Given the description of an element on the screen output the (x, y) to click on. 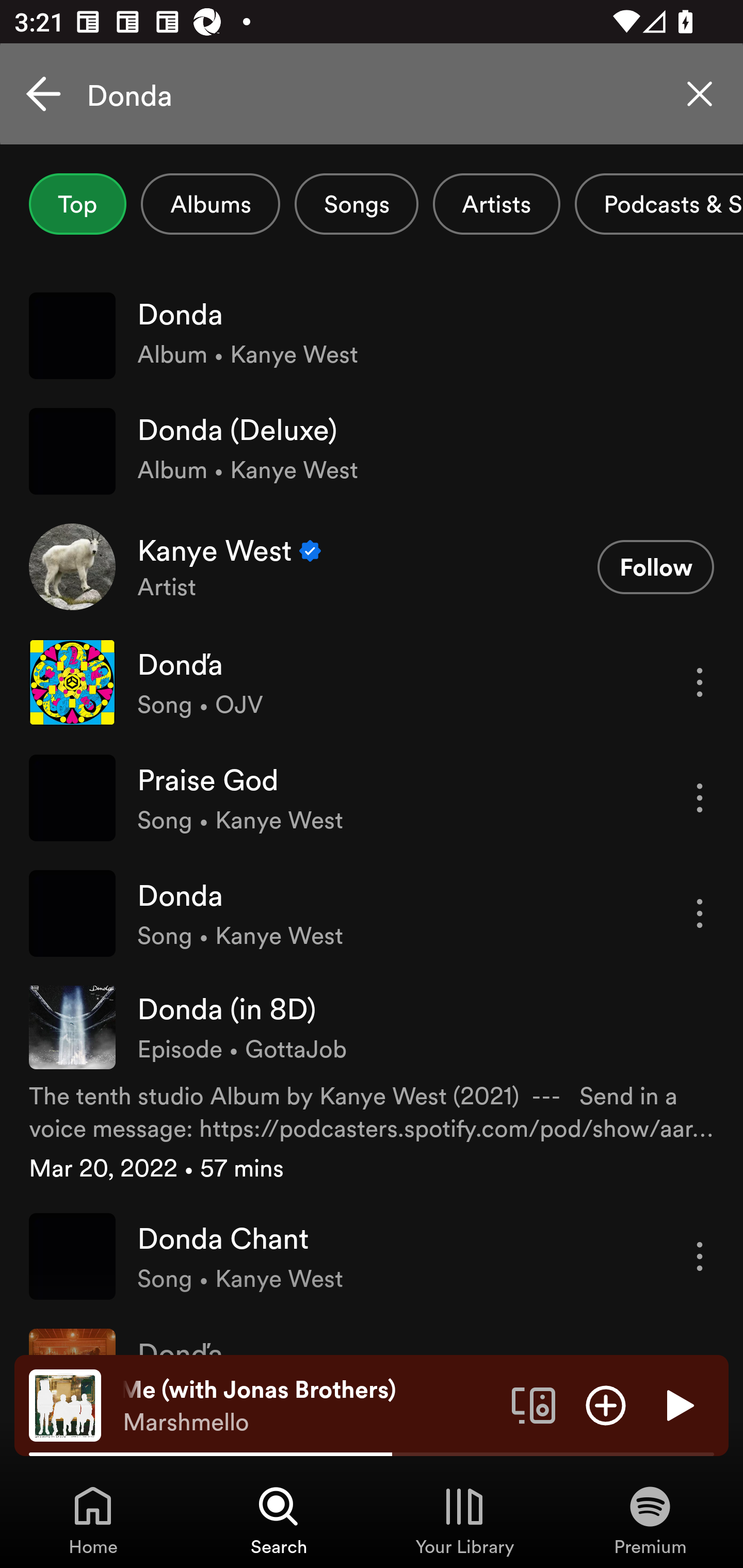
Donda (371, 93)
Cancel (43, 93)
Clear search query (699, 93)
Top (77, 203)
Albums (210, 203)
Songs (356, 203)
Artists (496, 203)
Podcasts & Shows (659, 203)
Donda Album • Kanye West (371, 335)
Donda (Deluxe) Album • Kanye West (371, 451)
Kanye West Verified Artist Follow Follow (371, 566)
Follow (655, 566)
Donďa Song • OJV More options for song Donďa (371, 682)
More options for song Donďa (699, 682)
More options for song Praise God (699, 798)
More options for song Donda (699, 913)
